Given the description of an element on the screen output the (x, y) to click on. 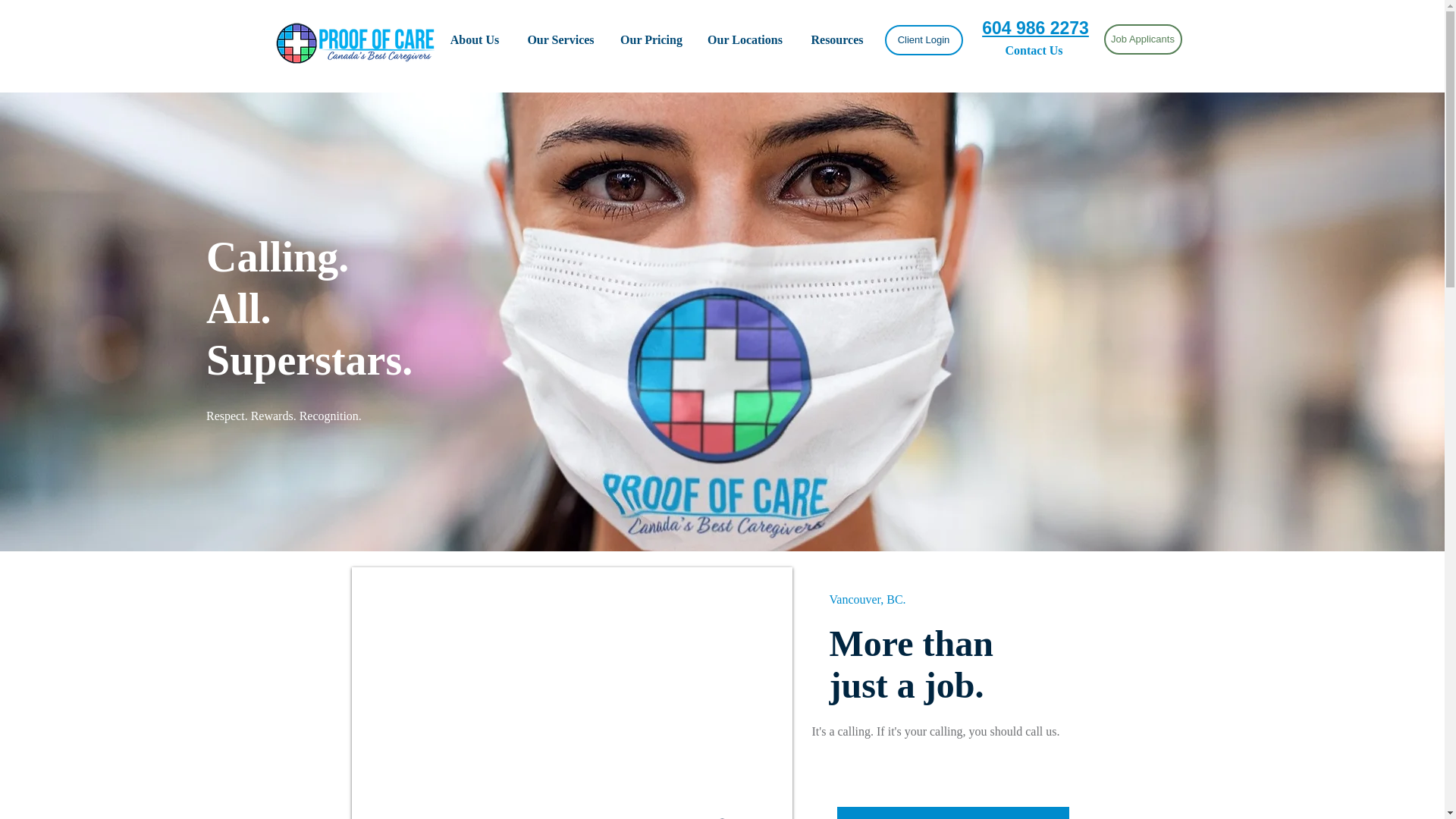
Job Applicants (1142, 39)
Our Locations (745, 39)
Our Pricing (651, 39)
604 986 2273 (1035, 27)
Contact Us (1034, 51)
Client Login (922, 40)
Apply Now (952, 812)
